Given the description of an element on the screen output the (x, y) to click on. 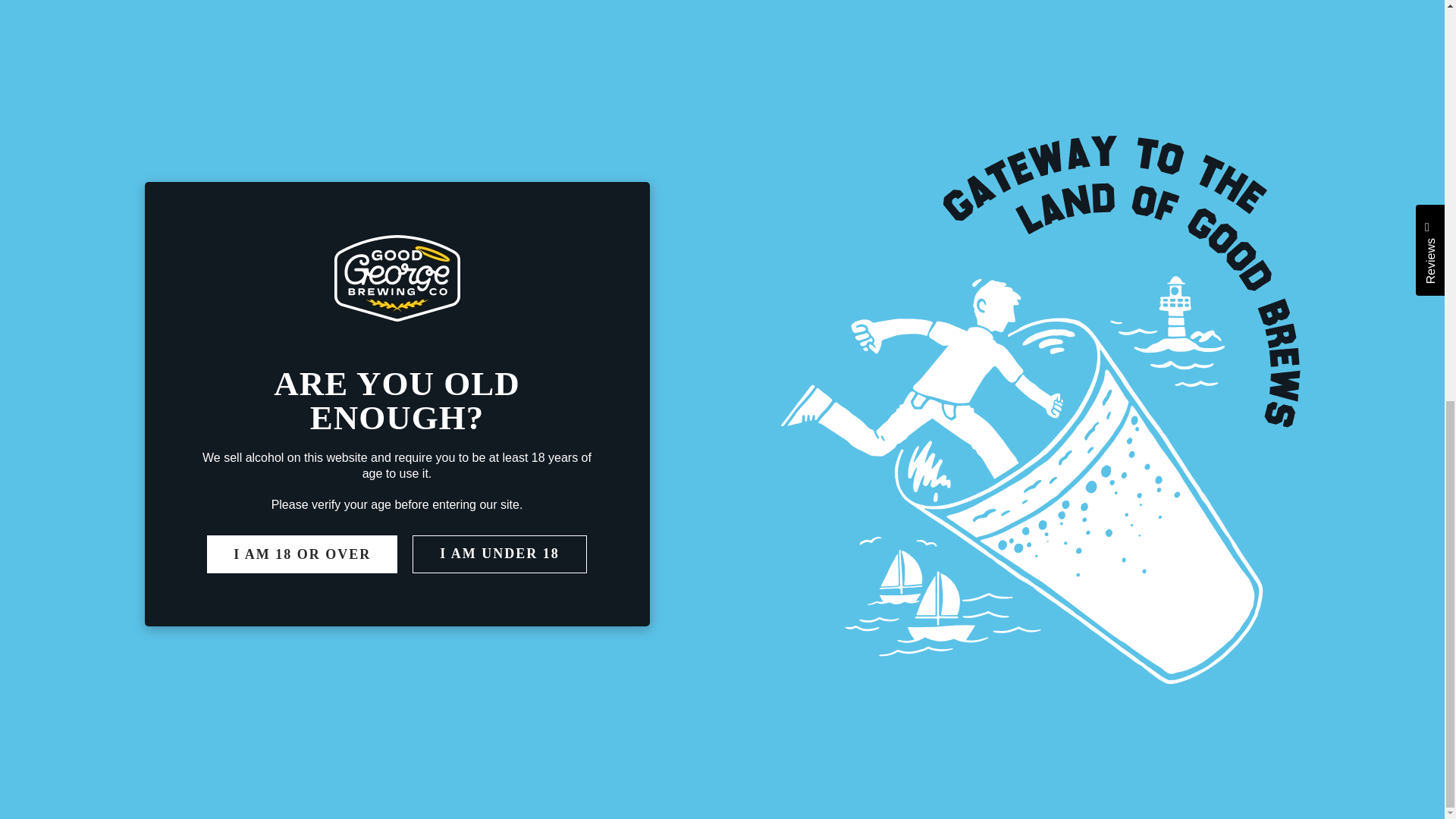
Crafted Cocktails (358, 668)
Cider (323, 527)
Be Good Do Good (590, 584)
Nitro Espresso Taps (595, 612)
Gin (318, 556)
Whisky (328, 584)
SUBSCRIBE (338, 697)
Vodka (504, 274)
Functions (326, 612)
Our Story (564, 527)
Beer (563, 499)
Cocktails (321, 499)
